Given the description of an element on the screen output the (x, y) to click on. 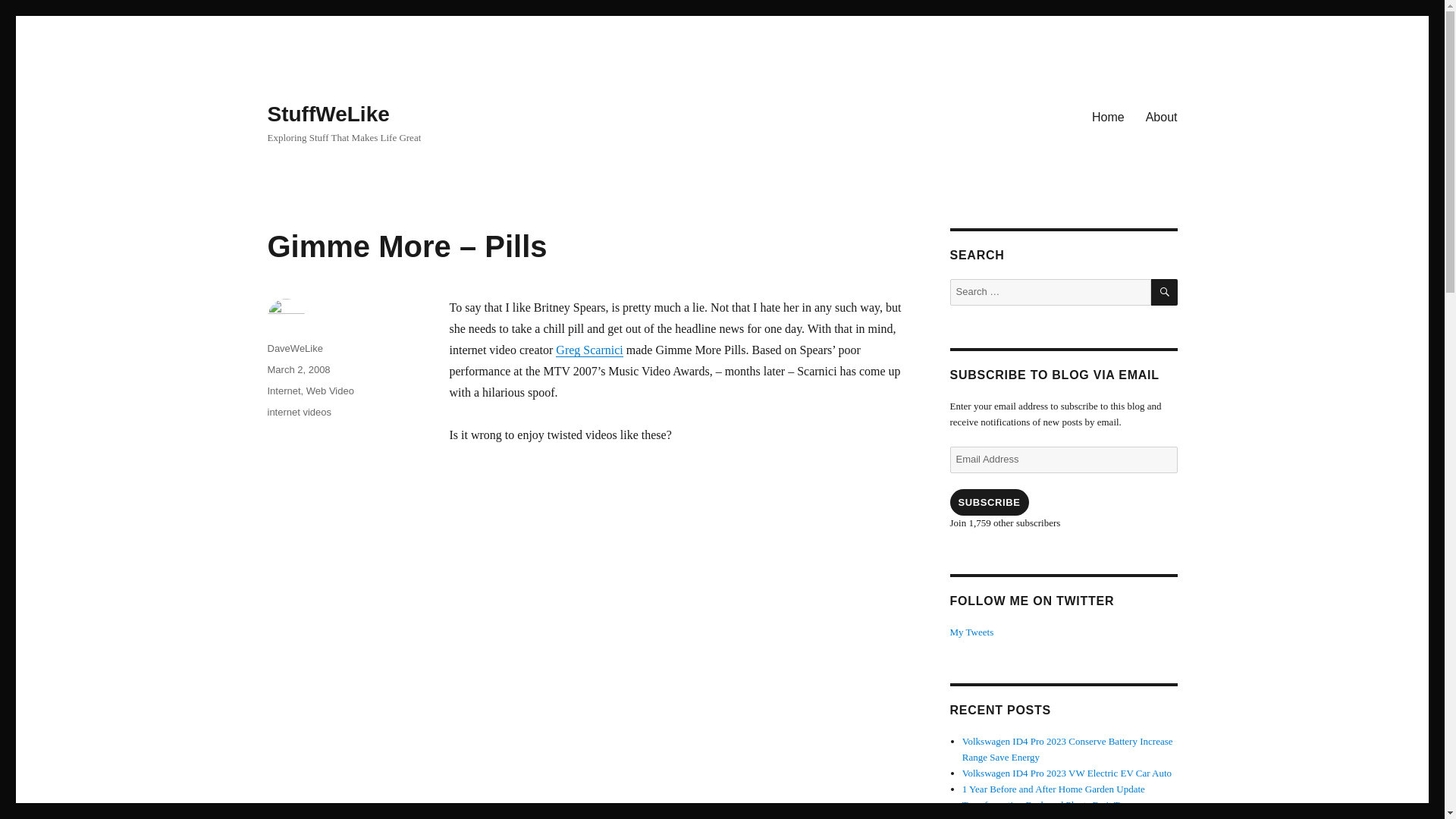
Internet (282, 390)
My Tweets (970, 632)
DaveWeLike (293, 348)
SUBSCRIBE (988, 501)
March 2, 2008 (298, 369)
SEARCH (1164, 292)
Volkswagen ID4 Pro 2023 VW Electric EV Car Auto (1067, 772)
StuffWeLike (327, 114)
Home (1108, 116)
